Given the description of an element on the screen output the (x, y) to click on. 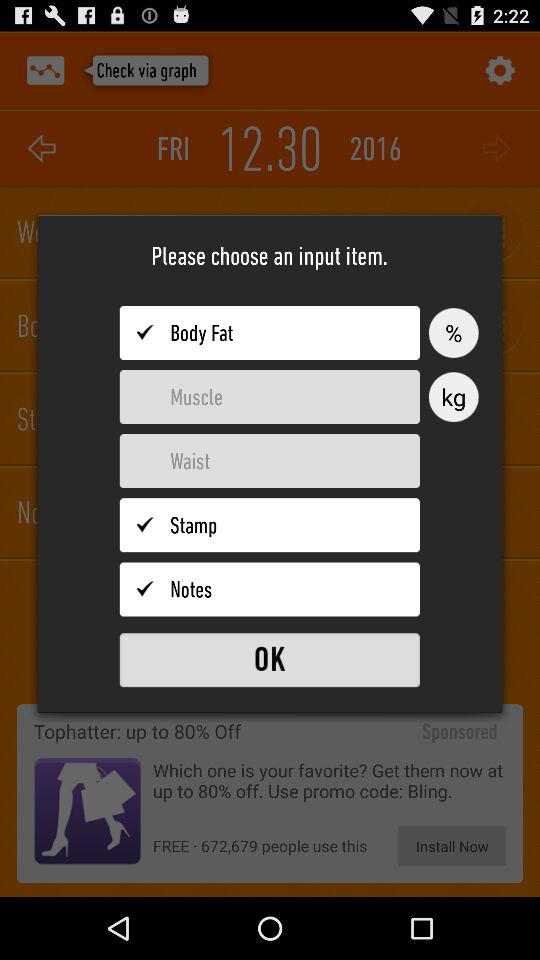
input notes (269, 589)
